Given the description of an element on the screen output the (x, y) to click on. 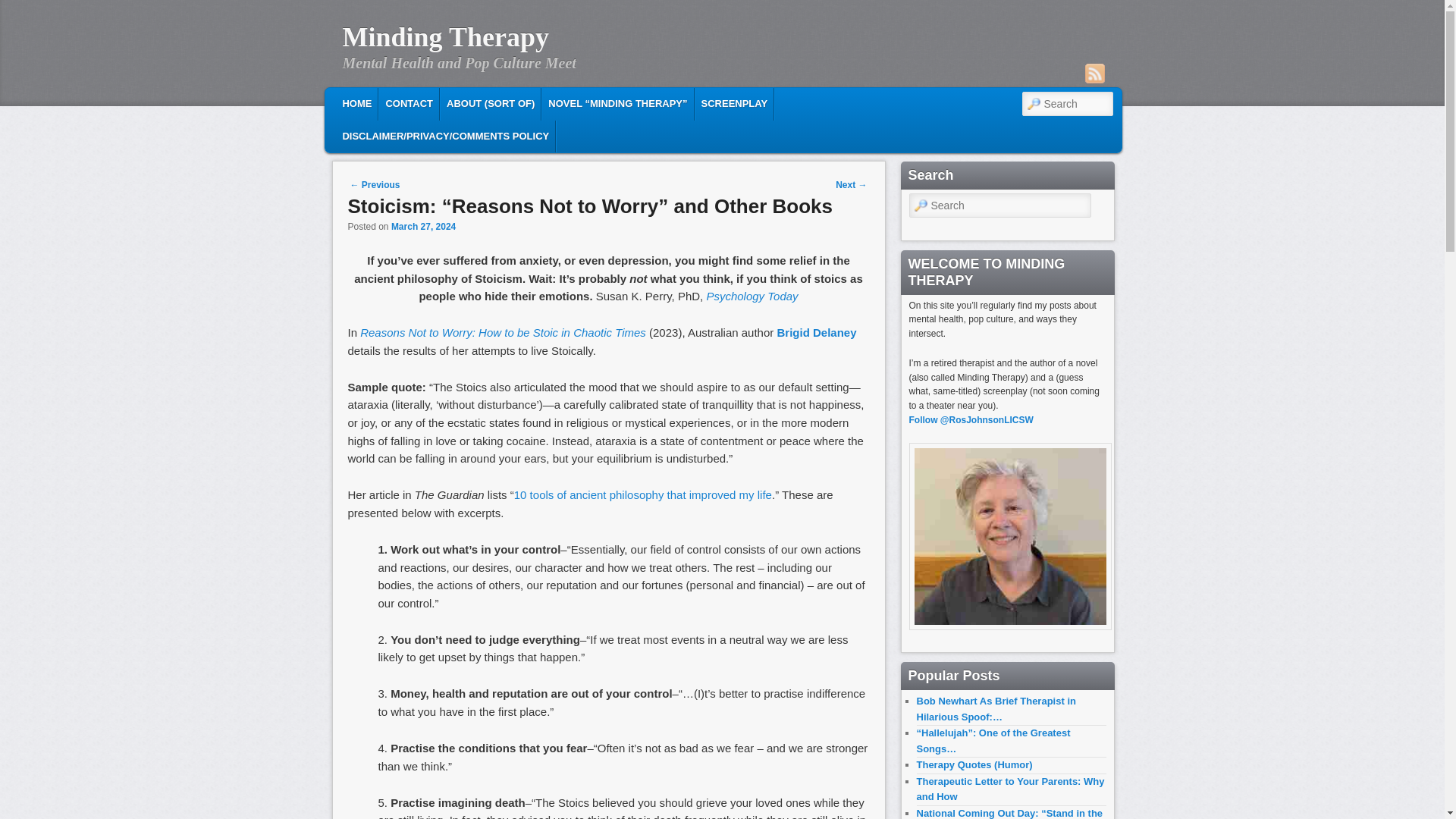
Skip to secondary content (432, 102)
Search (24, 8)
SKIP TO PRIMARY CONTENT (421, 102)
March 27, 2024 (423, 226)
Minding Therapy (445, 37)
Psychology Today (751, 295)
RSS (1093, 73)
CONTACT (408, 103)
SCREENPLAY (734, 103)
SKIP TO SECONDARY CONTENT (432, 102)
